Given the description of an element on the screen output the (x, y) to click on. 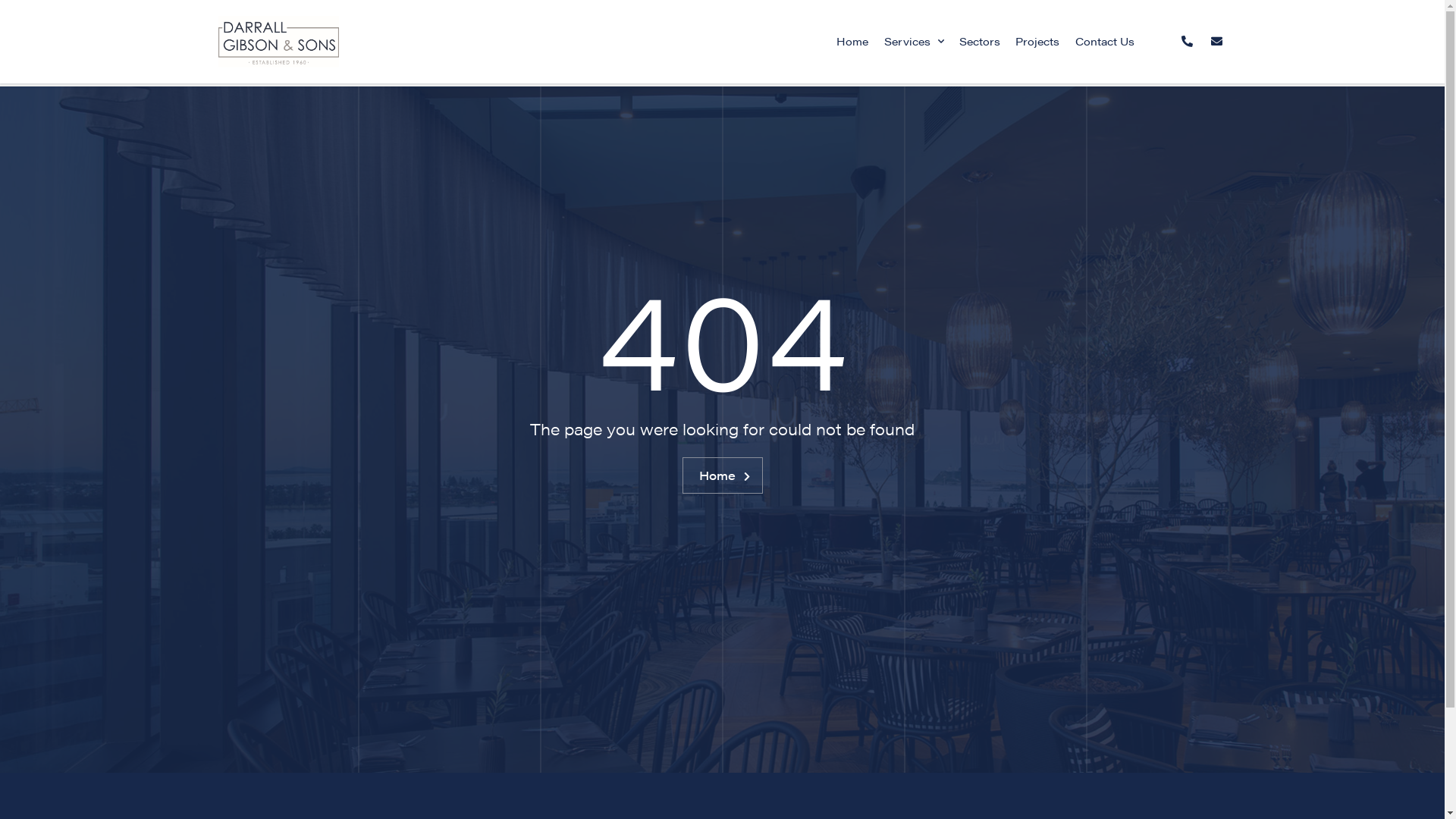
Contact Us Element type: text (1104, 41)
Home Element type: text (851, 41)
Services Element type: text (912, 41)
Home Element type: text (722, 475)
Sectors Element type: text (979, 41)
Projects Element type: text (1036, 41)
